Given the description of an element on the screen output the (x, y) to click on. 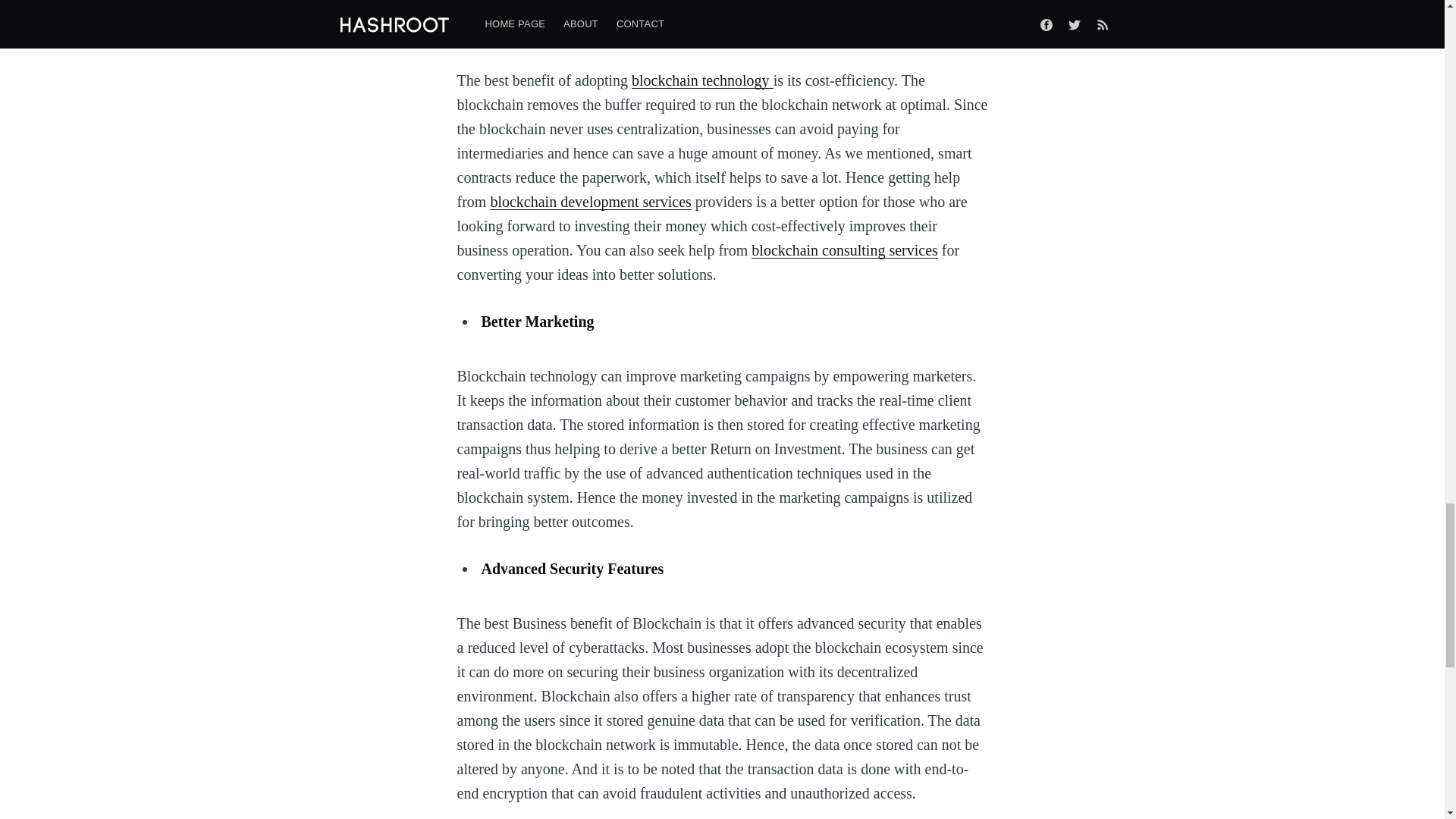
blockchain development services (589, 201)
blockchain consulting services (844, 249)
blockchain technology (702, 80)
